Given the description of an element on the screen output the (x, y) to click on. 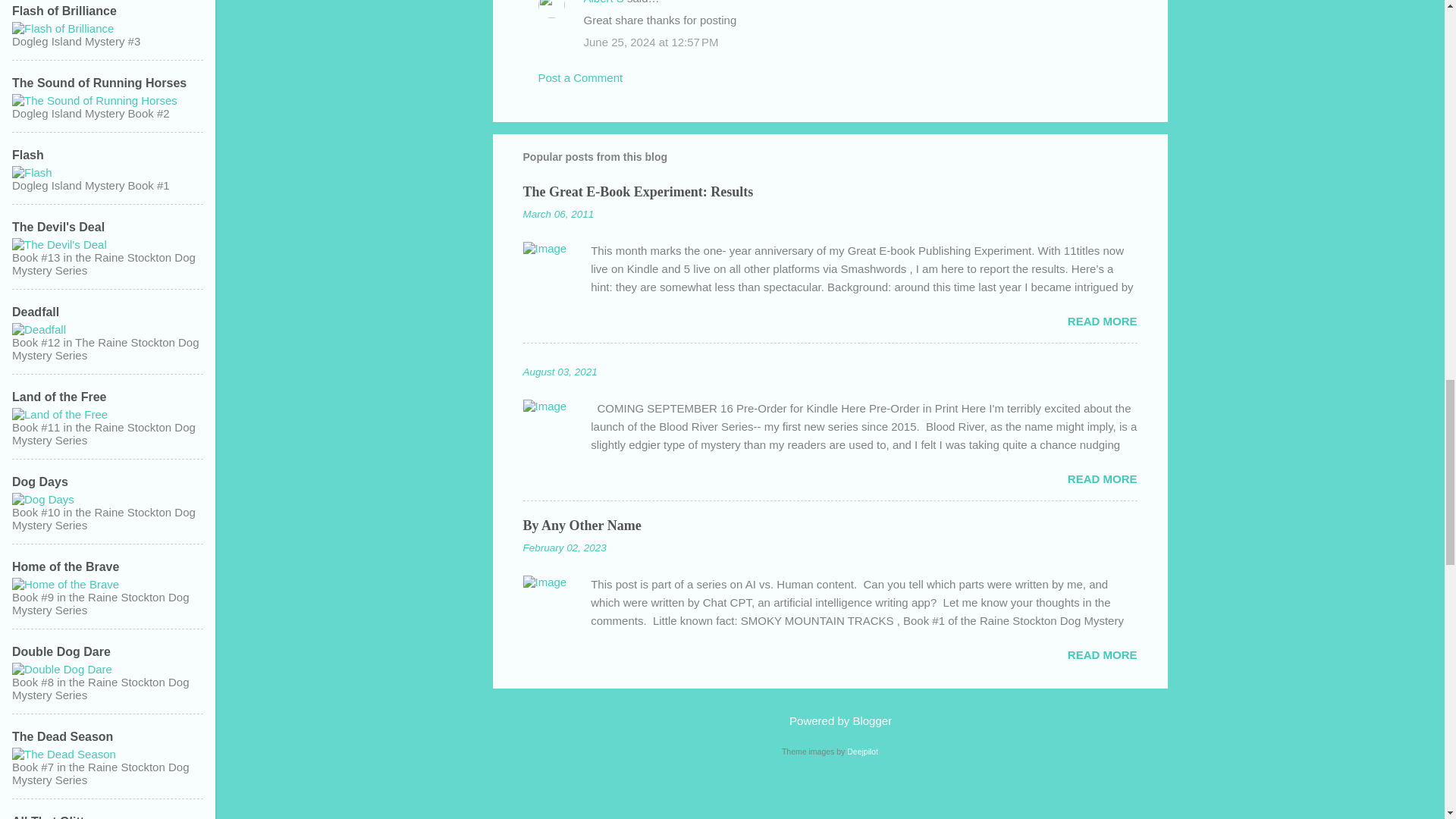
By Any Other Name (582, 525)
February 02, 2023 (564, 547)
Albert S (603, 2)
August 03, 2021 (559, 371)
The Great E-Book Experiment: Results (638, 191)
March 06, 2011 (558, 214)
Post a Comment (580, 77)
READ MORE (1102, 320)
READ MORE (1102, 478)
